Given the description of an element on the screen output the (x, y) to click on. 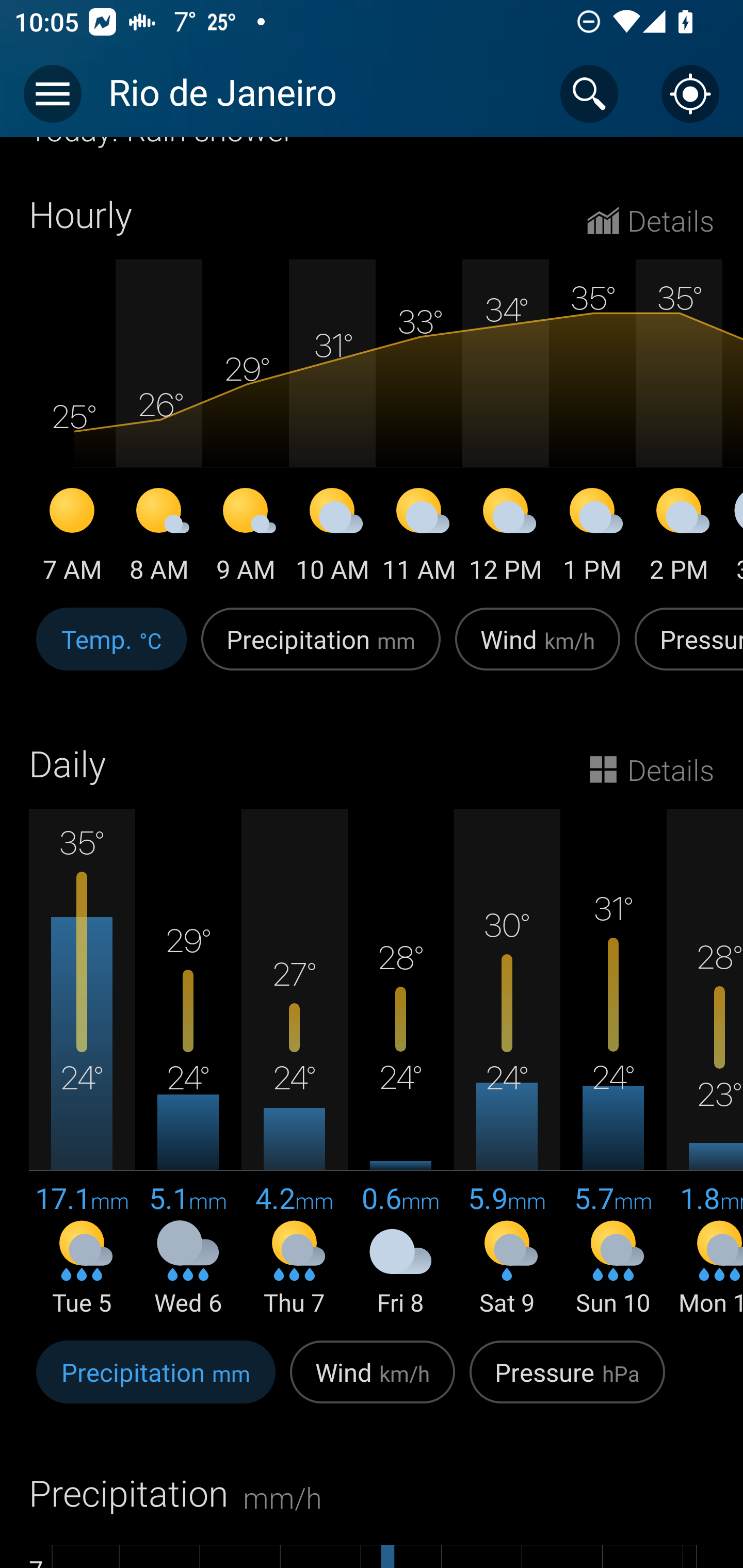
7 AM (71, 538)
8 AM (158, 538)
9 AM (245, 538)
10 AM (332, 538)
11 AM (418, 538)
12 PM (505, 538)
1 PM (592, 538)
2 PM (679, 538)
Temp. °C (110, 649)
Precipitation mm (320, 649)
Wind km/h (537, 649)
Pressure (685, 649)
35° 24° 17.1 mm Tue 5 (81, 1063)
29° 24° 5.1 mm Wed 6 (188, 1063)
27° 24° 4.2 mm Thu 7 (294, 1063)
28° 24° 0.6 mm Fri 8 (400, 1063)
30° 24° 5.9 mm Sat 9 (506, 1063)
31° 24° 5.7 mm Sun 10 (613, 1063)
28° 23° 1.8 mm Mon 11 (704, 1063)
Precipitation mm (155, 1381)
Wind km/h (372, 1381)
Pressure hPa (567, 1381)
